Given the description of an element on the screen output the (x, y) to click on. 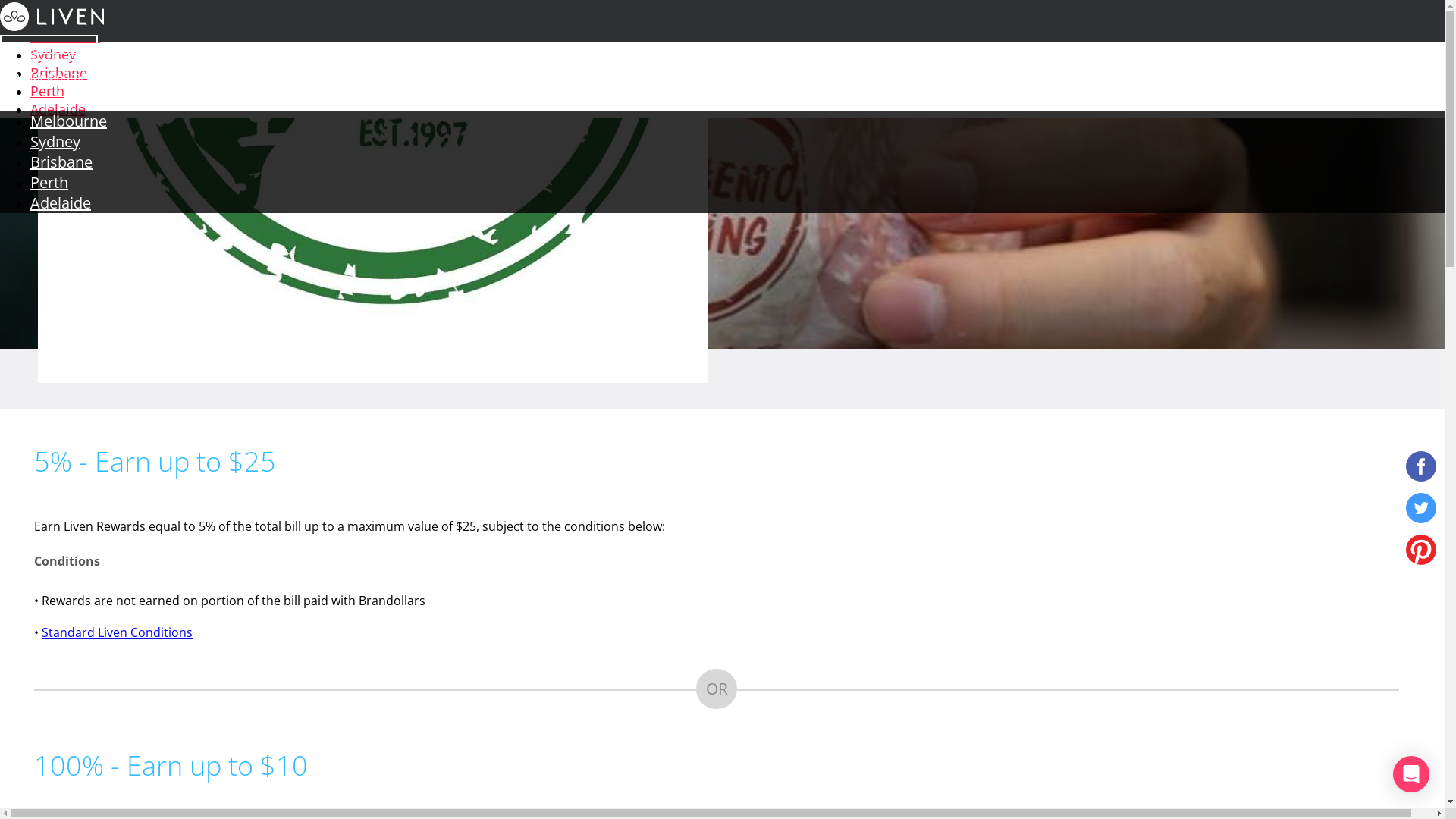
Perth Element type: text (47, 90)
Sydney Element type: text (52, 54)
Sydney Element type: text (55, 141)
Brisbane Element type: text (58, 72)
Brisbane Element type: text (61, 161)
DOWNLOAD Element type: text (48, 47)
Melbourne Element type: text (68, 120)
Adelaide Element type: text (57, 109)
City: Melbourne Element type: text (44, 77)
Melbourne Element type: text (65, 36)
Perth Element type: text (49, 182)
Adelaide Element type: text (60, 202)
Standard Liven Conditions Element type: text (116, 632)
